Given the description of an element on the screen output the (x, y) to click on. 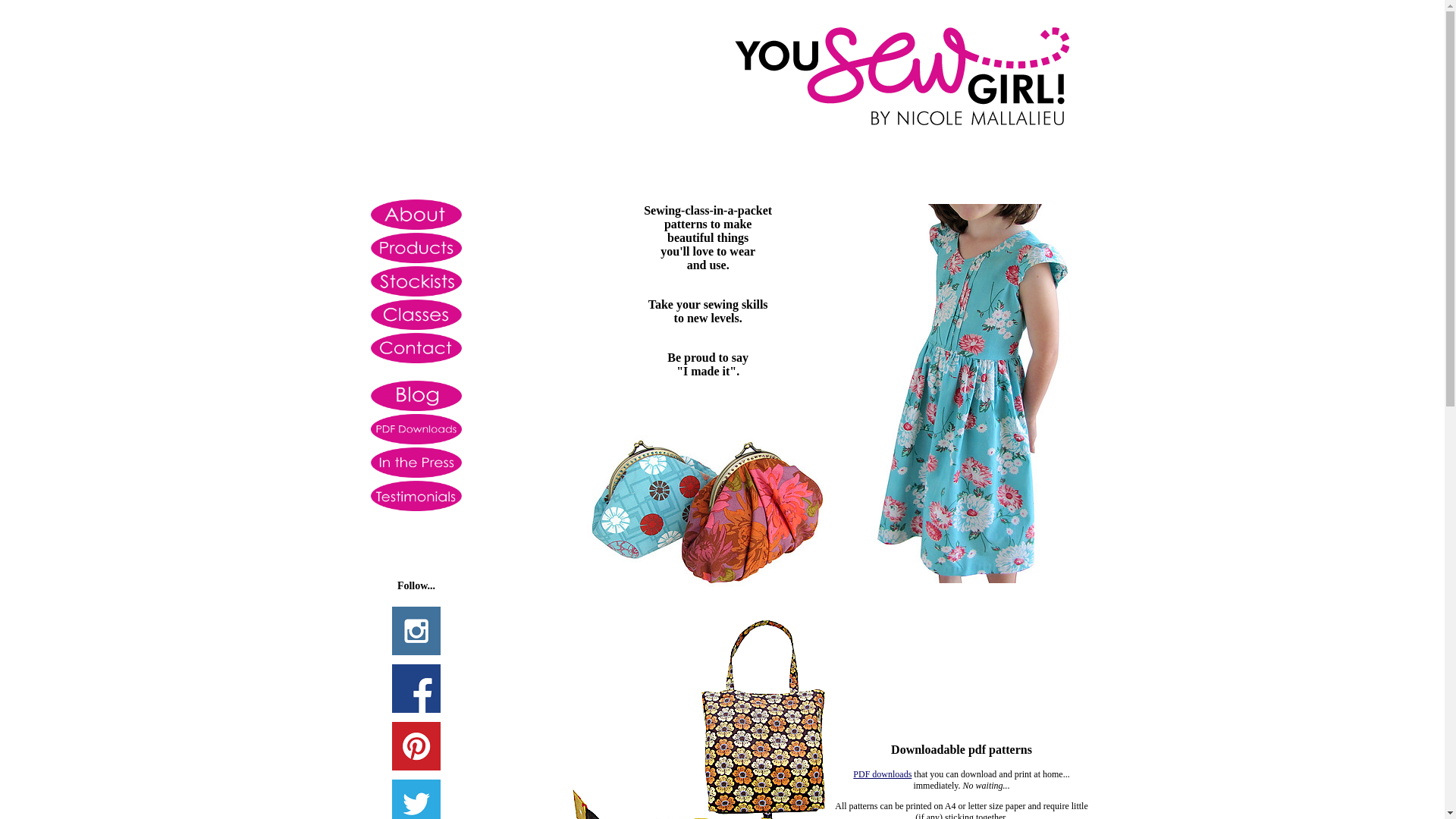
PDF downloads Element type: text (882, 773)
